Given the description of an element on the screen output the (x, y) to click on. 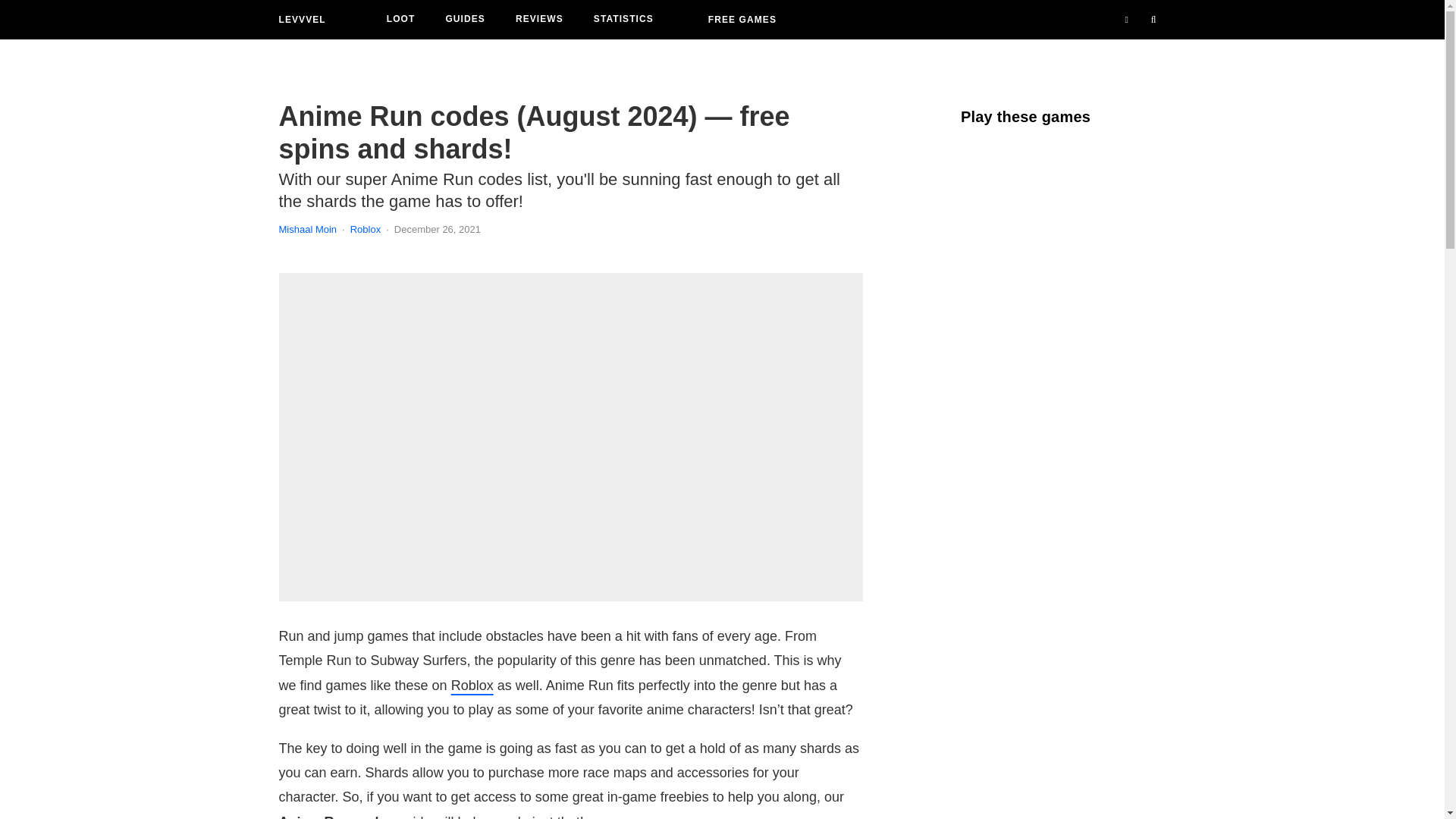
STATISTICS (623, 19)
Mishaal Moin (308, 229)
GUIDES (464, 19)
LEVVVEL (302, 19)
Roblox (472, 685)
REVIEWS (539, 19)
Roblox (365, 229)
FREE GAMES (742, 19)
LOOT (400, 19)
